Given the description of an element on the screen output the (x, y) to click on. 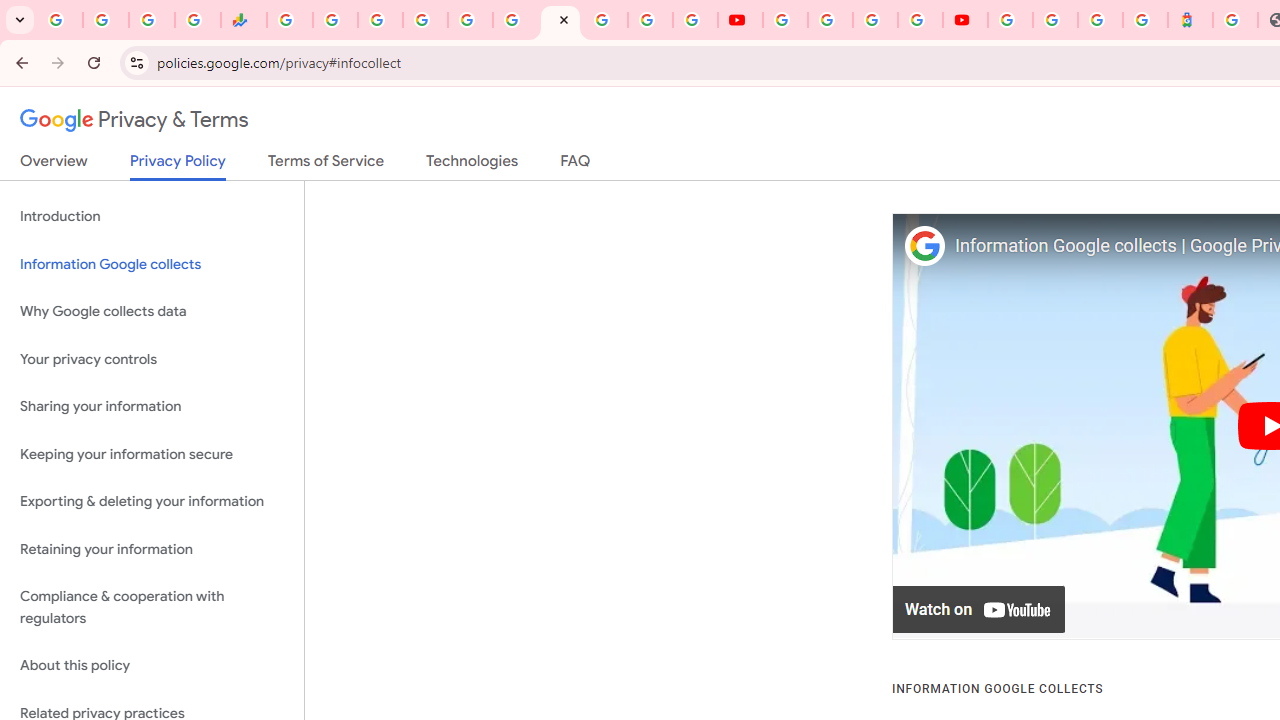
Content Creator Programs & Opportunities - YouTube Creators (965, 20)
Create your Google Account (875, 20)
YouTube (784, 20)
Google Workspace Admin Community (60, 20)
